Given the description of an element on the screen output the (x, y) to click on. 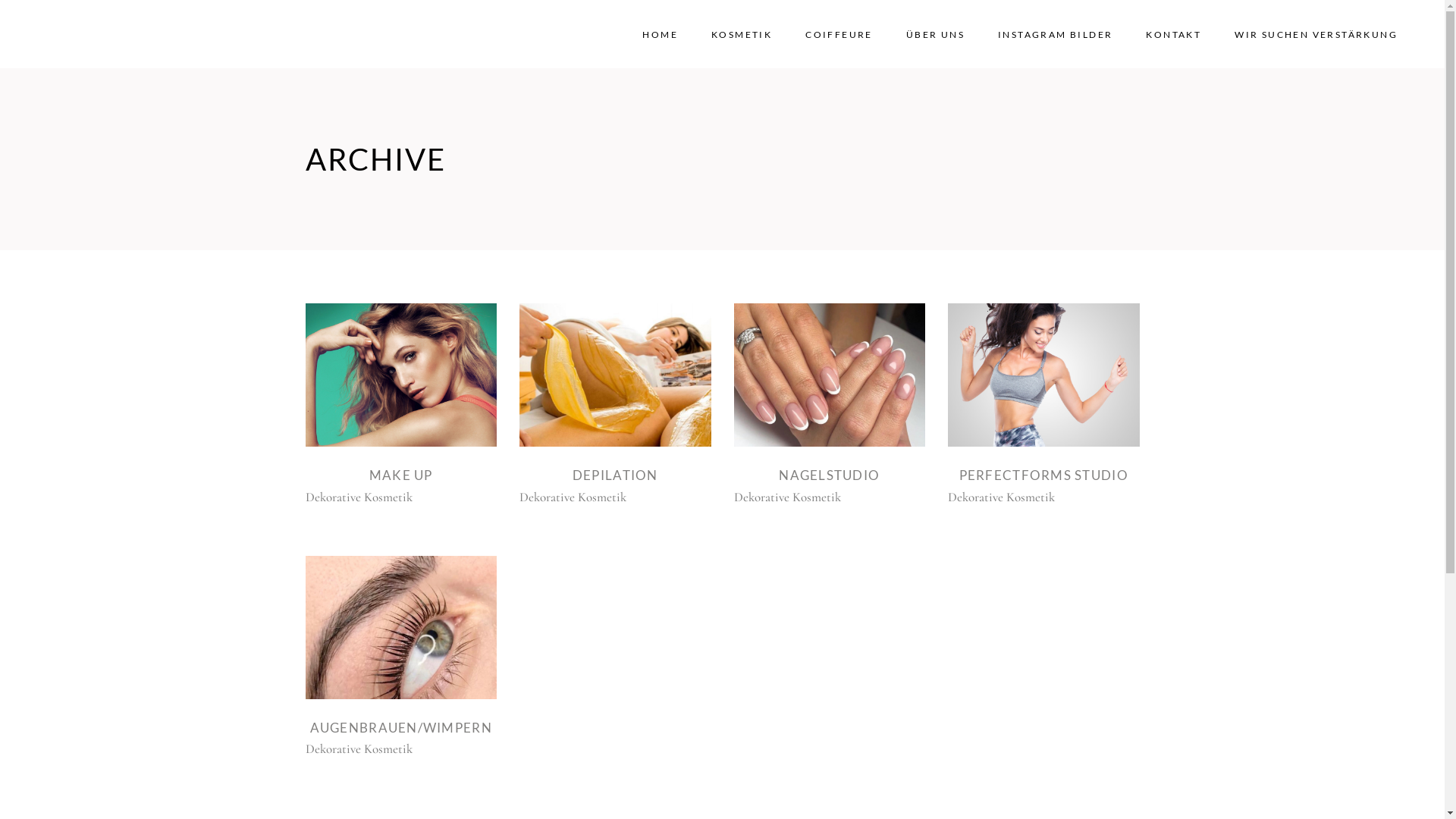
Dekorative Kosmetik Element type: text (1000, 496)
INSTAGRAM BILDER Element type: text (1055, 34)
Dekorative Kosmetik Element type: text (787, 496)
HOME Element type: text (659, 34)
KOSMETIK Element type: text (741, 34)
Dekorative Kosmetik Element type: text (572, 496)
Dekorative Kosmetik Element type: text (357, 748)
Dekorative Kosmetik Element type: text (357, 496)
KONTAKT Element type: text (1173, 34)
COIFFEURE Element type: text (838, 34)
